Given the description of an element on the screen output the (x, y) to click on. 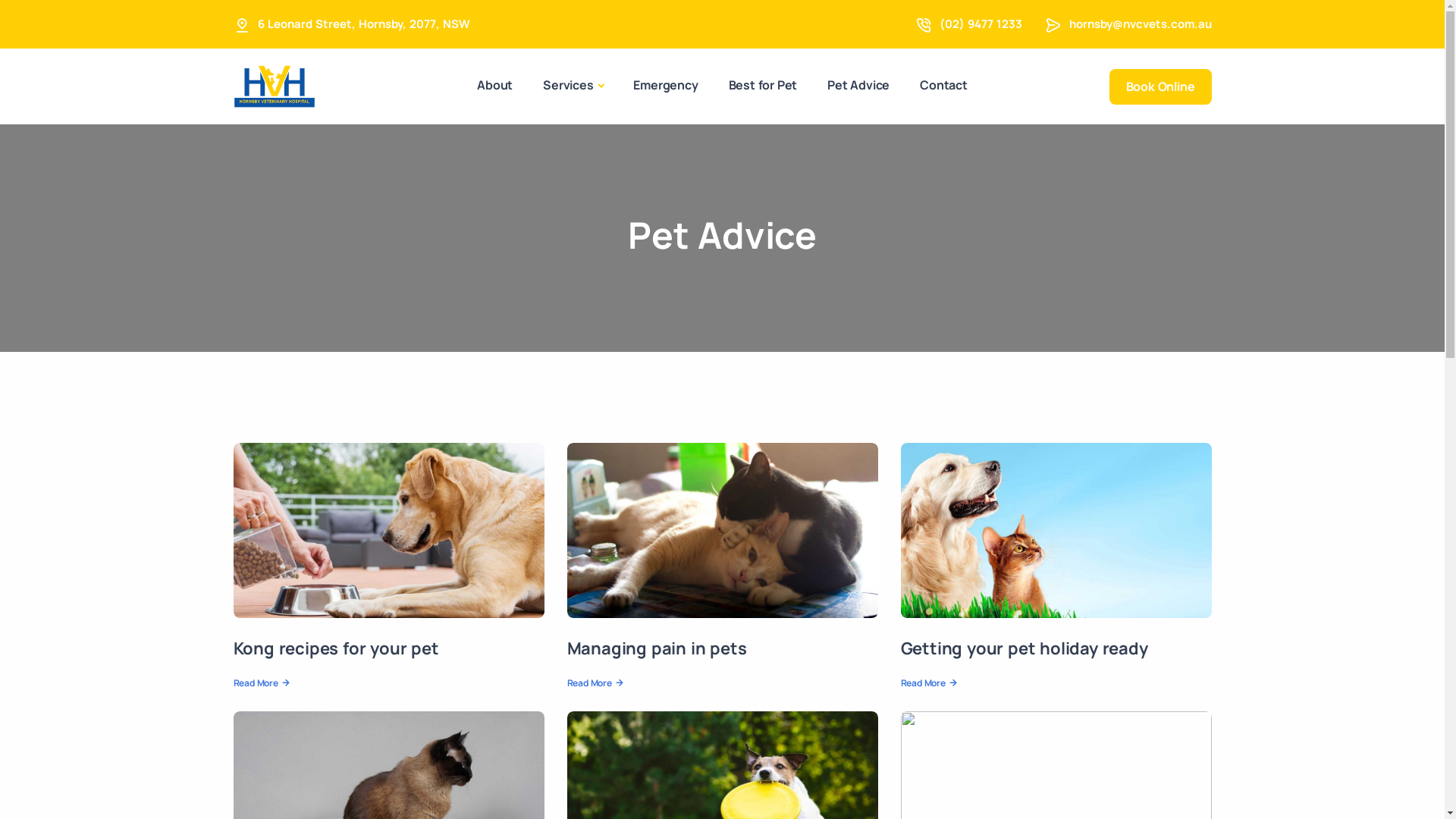
(02) 9477 1233 Element type: text (979, 23)
Managing pain in pets Element type: text (656, 648)
Pet Advice Element type: text (858, 84)
Getting your pet holiday ready Element type: text (1024, 648)
Read More Element type: text (260, 682)
Contact Element type: text (943, 84)
6 Leonard Street, Hornsby, 2077, NSW Element type: text (363, 23)
Kong recipes for your pet Element type: text (336, 648)
Read More Element type: text (594, 682)
Best for Pet Element type: text (762, 84)
Services Element type: text (572, 86)
hornsby@nvcvets.com.au Element type: text (1140, 23)
Read More Element type: text (928, 682)
About Element type: text (494, 84)
Emergency Element type: text (665, 84)
Book Online Element type: text (1160, 86)
